Given the description of an element on the screen output the (x, y) to click on. 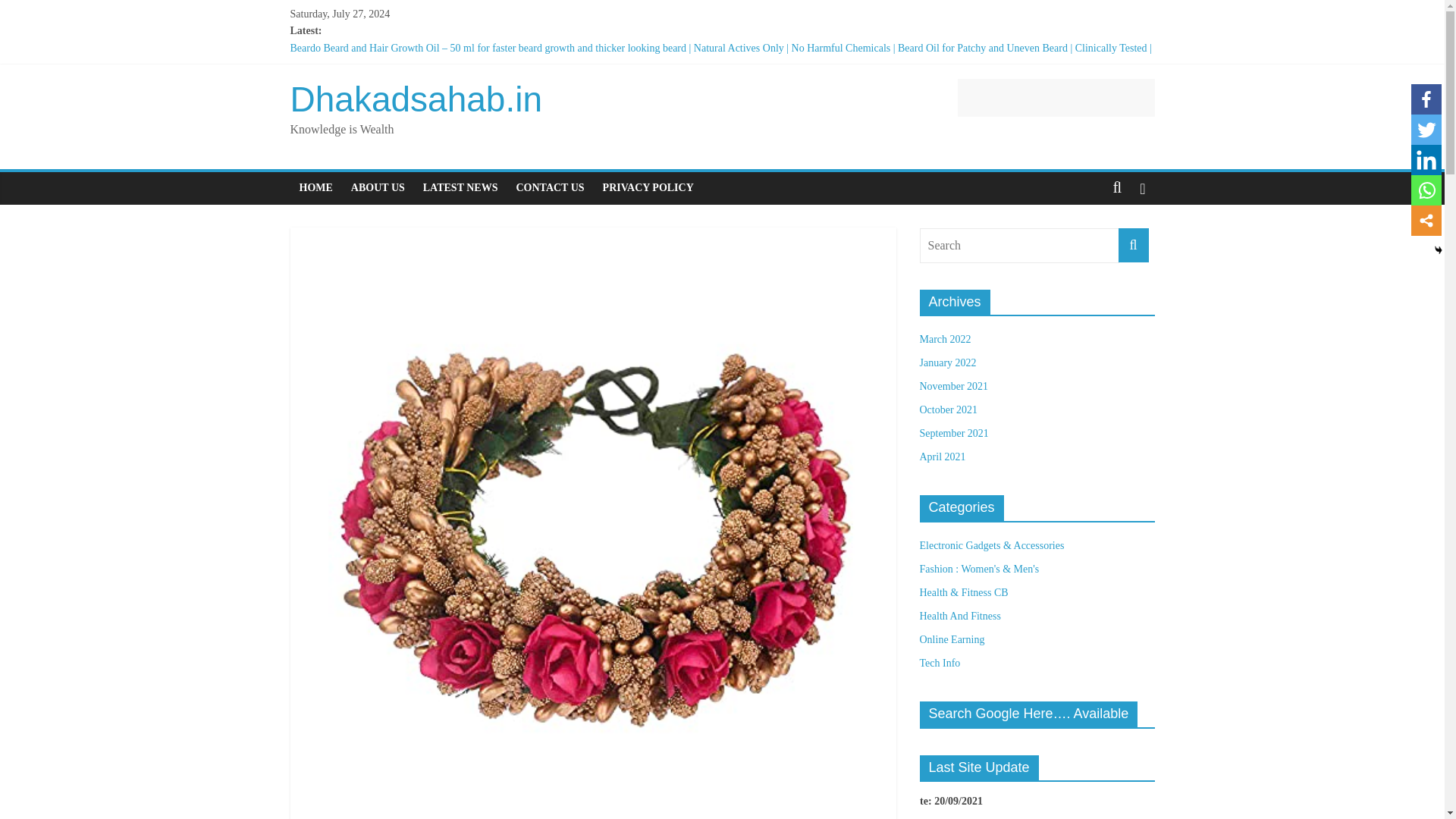
LATEST NEWS (459, 187)
Dhakadsahab.in (415, 98)
CONTACT US (549, 187)
The Longevity Breakthrough Your Doctor Won't Tell You About (425, 81)
Advertisement (1055, 97)
The Longevity Breakthrough Your Doctor Won't Tell You About (425, 81)
Dhakadsahab.in (415, 98)
ABOUT US (377, 187)
HOME (314, 187)
PRIVACY POLICY (648, 187)
